Given the description of an element on the screen output the (x, y) to click on. 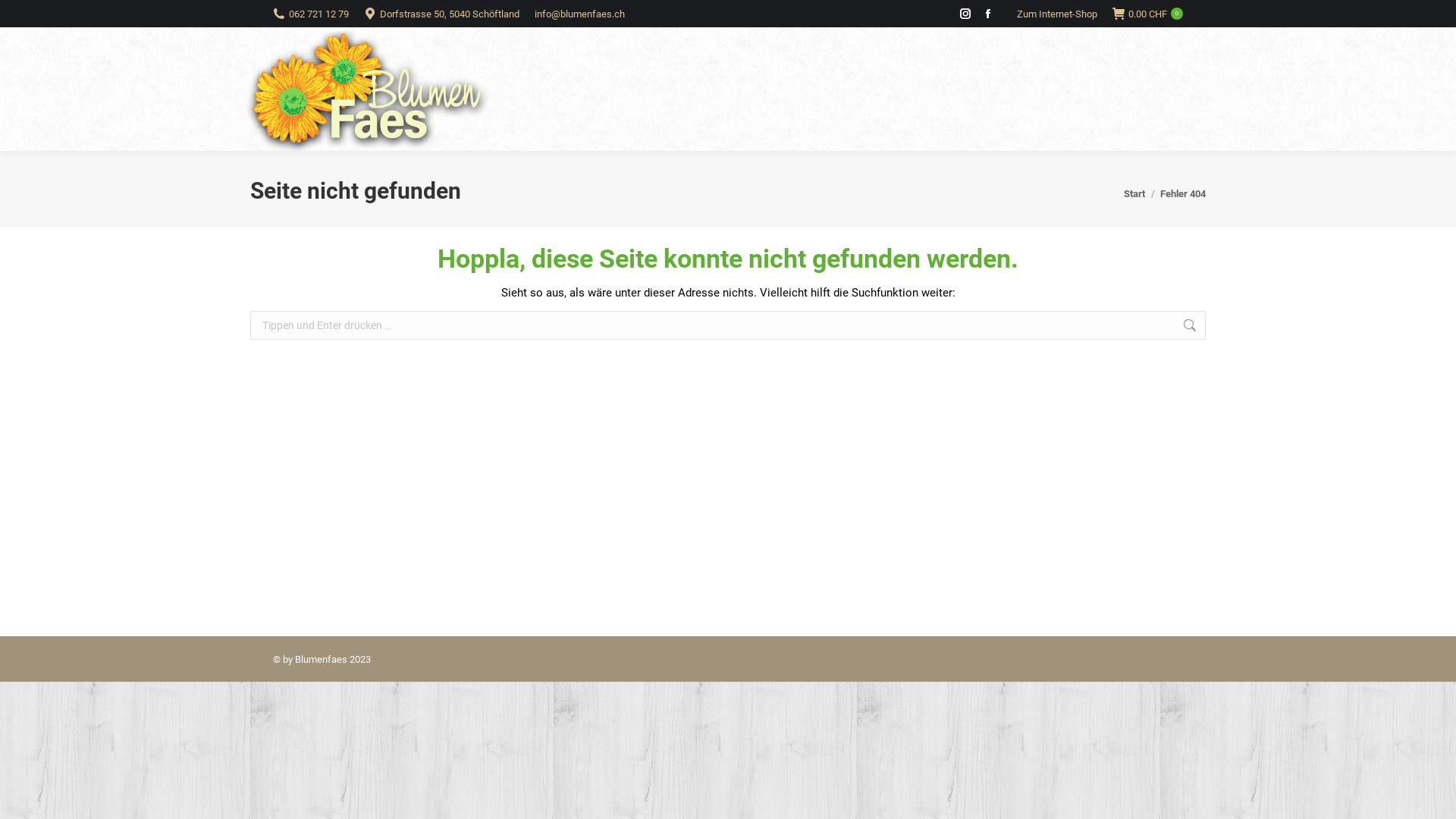
Aktuelles Element type: text (876, 114)
Instagram page opens in new window Element type: text (965, 13)
Zum Internet-Shop Element type: text (1055, 13)
Los! Element type: text (1230, 327)
Facebook page opens in new window Element type: text (987, 13)
Floristik Element type: text (947, 114)
0.00 CHF
0 Element type: text (1147, 13)
Shop Element type: text (812, 114)
Dienstleistungen Element type: text (1038, 114)
Team Element type: text (1122, 114)
Start Element type: text (1134, 193)
Kontakt Element type: text (1183, 114)
